Given the description of an element on the screen output the (x, y) to click on. 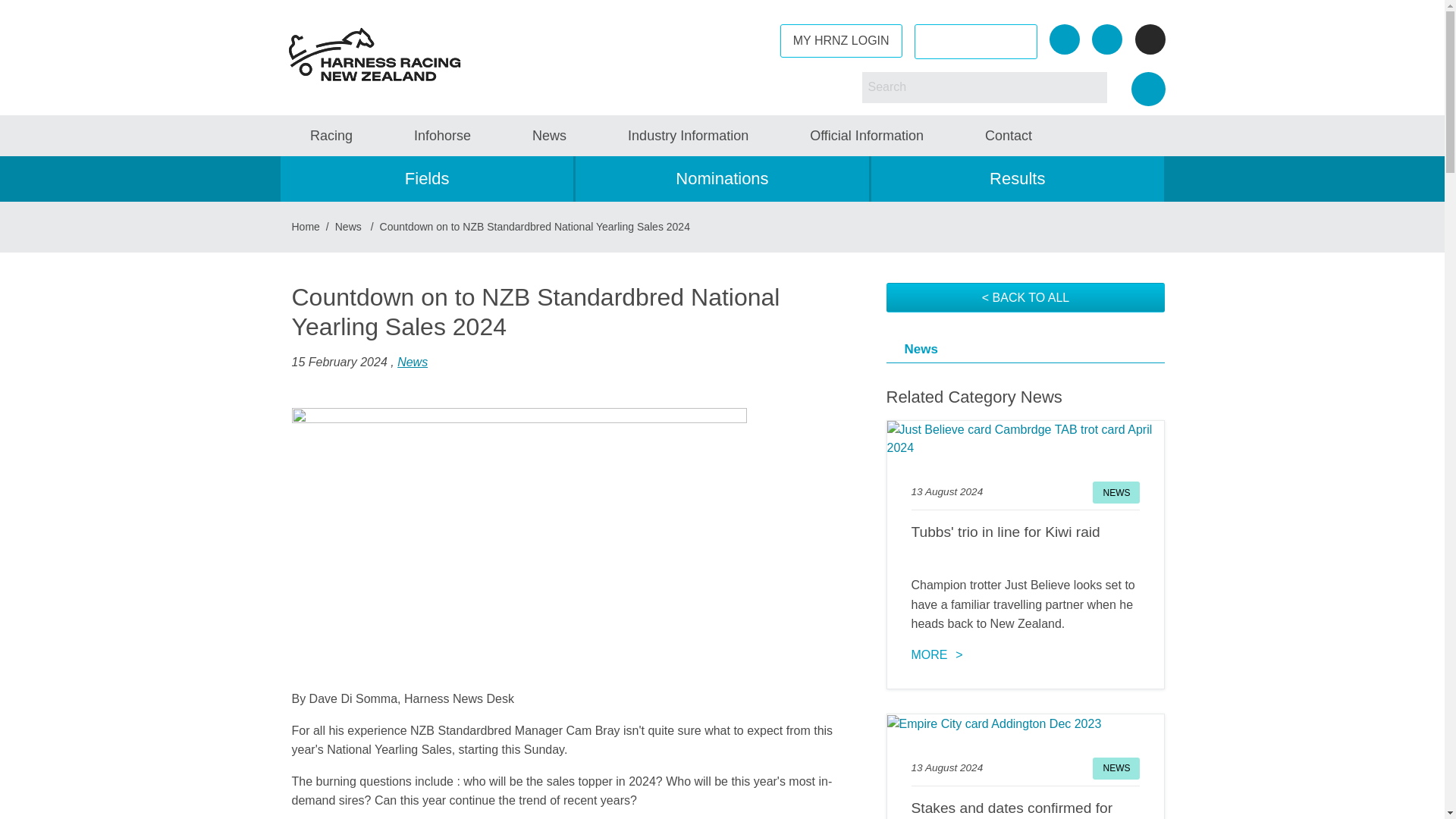
Stakes and dates confirmed for 2YO Trotters (1025, 808)
Stakes and dates confirmed for 2YO Trotters (1025, 723)
News (1116, 492)
Tubbs' trio in line for Kiwi raid (936, 654)
Tubbs' trio in line for Kiwi raid (1025, 542)
News (1116, 768)
Tubbs' trio in line for Kiwi raid (1025, 438)
